Given the description of an element on the screen output the (x, y) to click on. 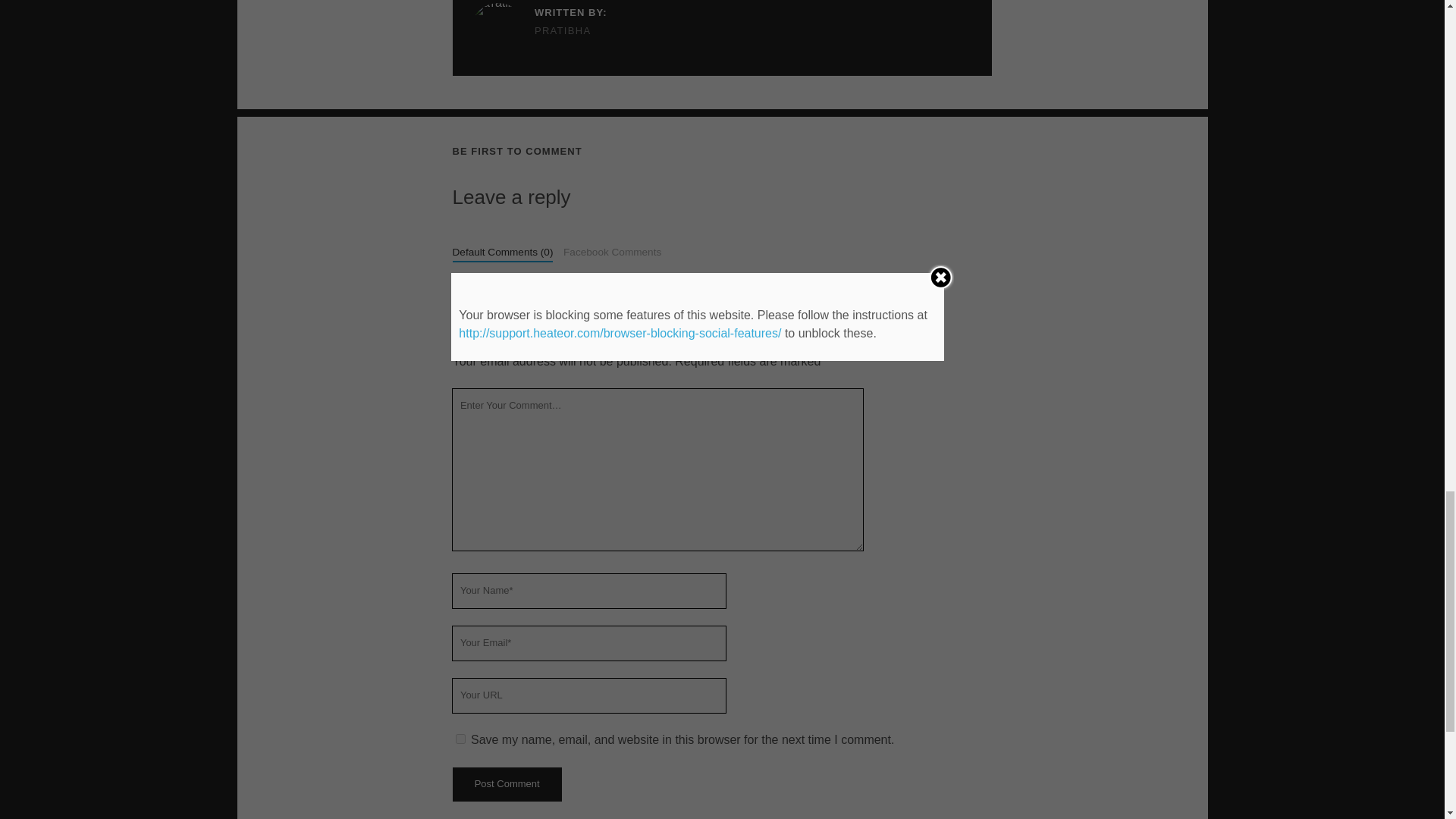
Post Comment (505, 784)
yes (459, 738)
